Given the description of an element on the screen output the (x, y) to click on. 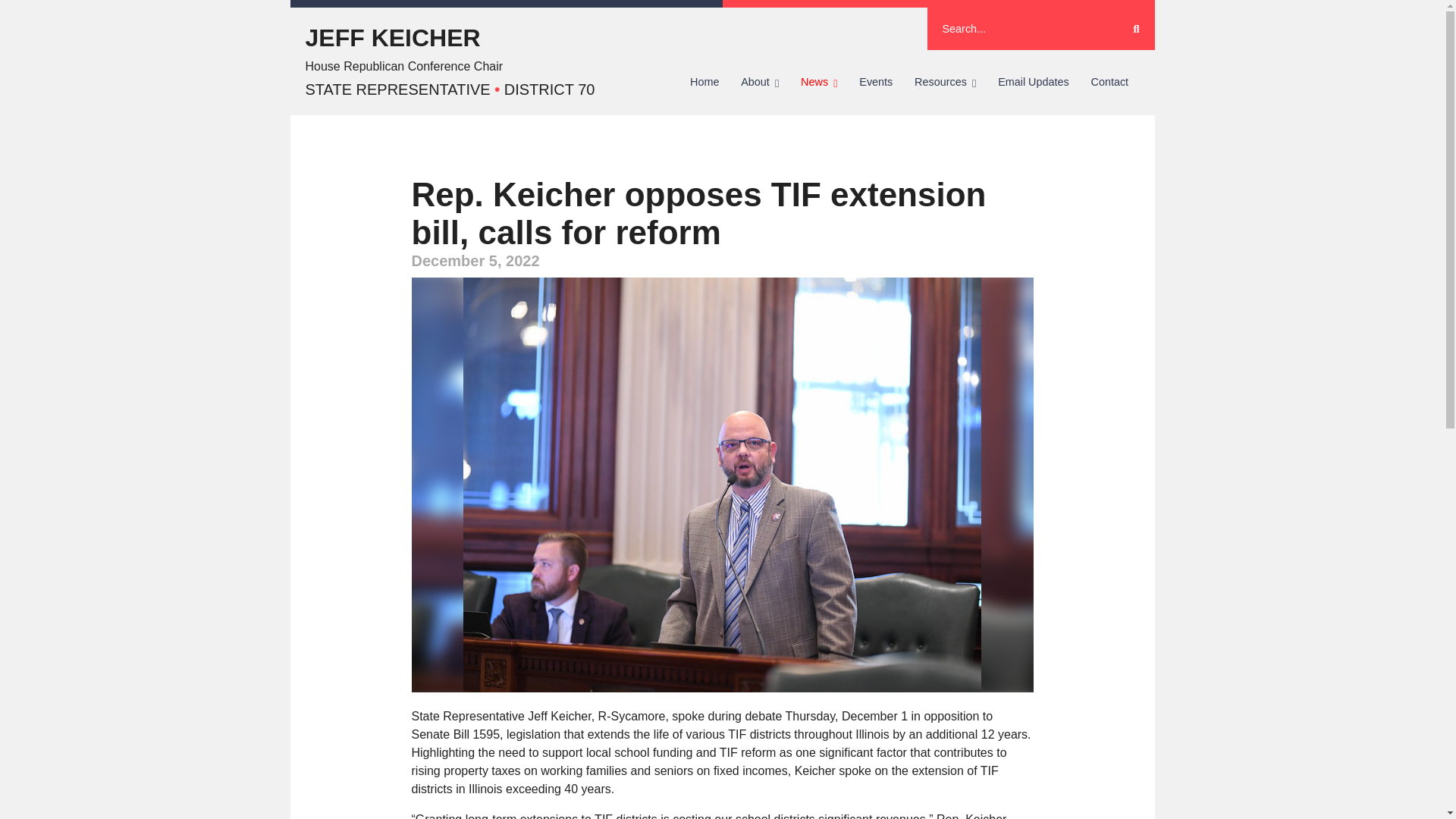
News (819, 82)
Events (876, 82)
Contact (1109, 82)
Resources (945, 82)
About (760, 82)
Home (704, 82)
Email Updates (1033, 82)
